Given the description of an element on the screen output the (x, y) to click on. 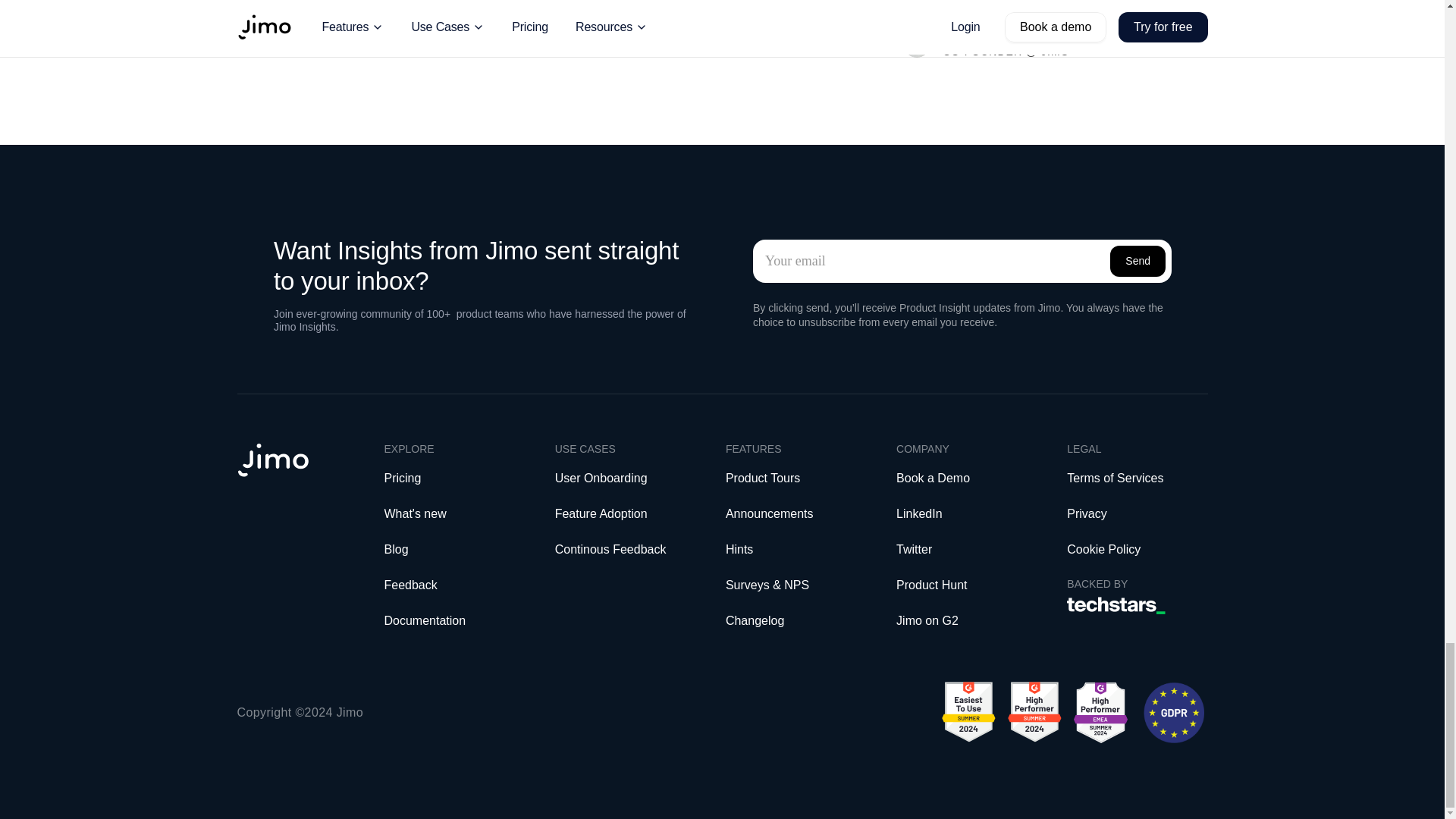
Feature Adoption (600, 513)
Twitter (966, 549)
Product Tours (762, 477)
Product Hunt (966, 585)
Continous Feedback (610, 549)
Feedback (454, 585)
Announcement (766, 513)
Pricing (402, 477)
Hints (738, 549)
Cookie Policy (1137, 549)
Blog (395, 549)
Documentation (454, 620)
Book a Demo (966, 477)
Changelog (754, 620)
Jimo on G2 (966, 620)
